Given the description of an element on the screen output the (x, y) to click on. 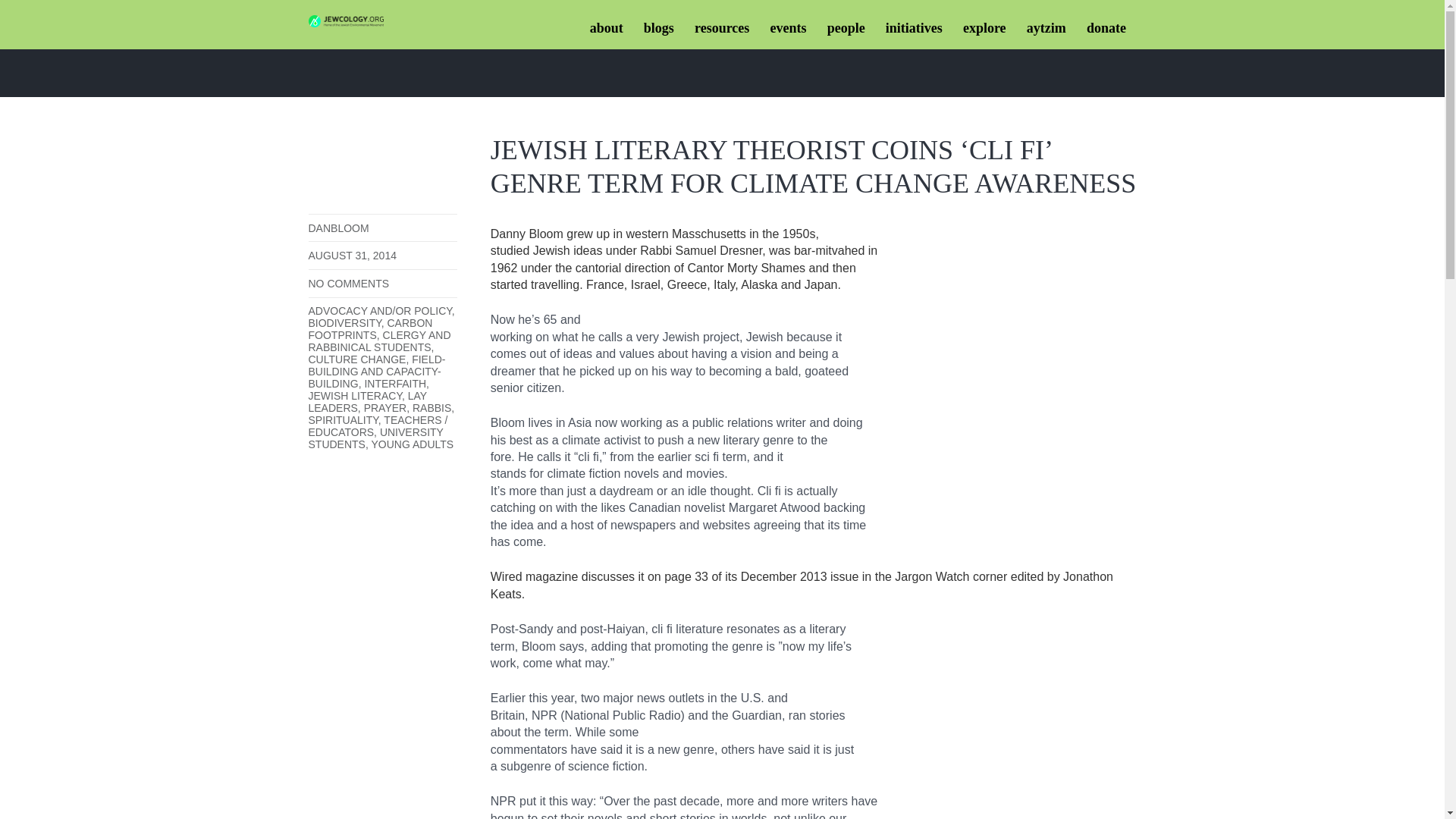
CLERGY AND RABBINICAL STUDENTS (378, 340)
RABBIS (431, 408)
INTERFAITH (395, 383)
CULTURE CHANGE (356, 358)
NO COMMENTS (347, 283)
resources (721, 29)
PRAYER (385, 408)
JEWISH LITERACY (354, 395)
Posts by danbloom (337, 227)
DANBLOOM (337, 227)
